Given the description of an element on the screen output the (x, y) to click on. 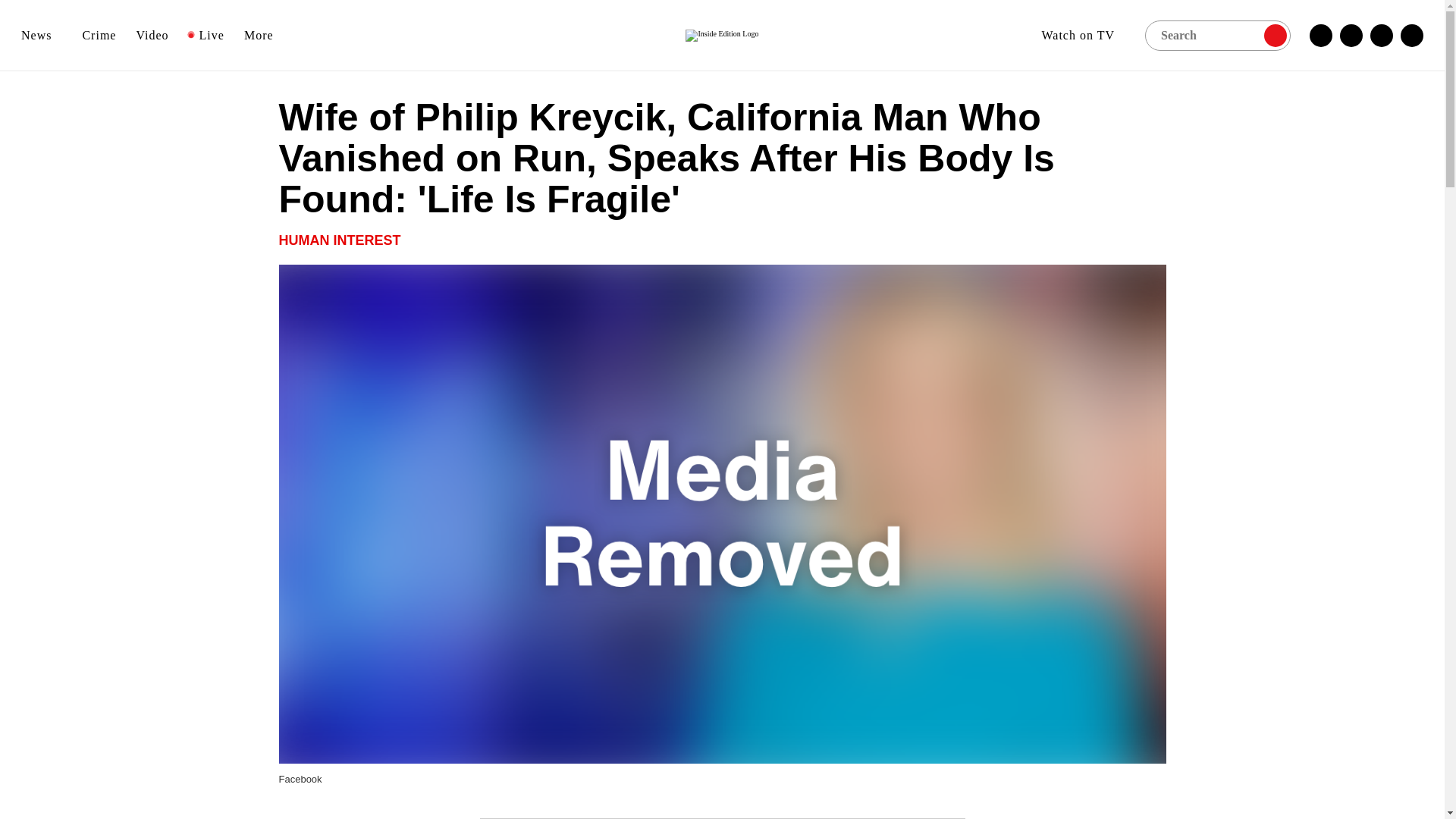
Video (151, 35)
News (41, 35)
Watch on TV (1083, 35)
Crime (98, 35)
More (263, 35)
Enter the terms you wish to search for. (1217, 34)
Live (206, 35)
